Given the description of an element on the screen output the (x, y) to click on. 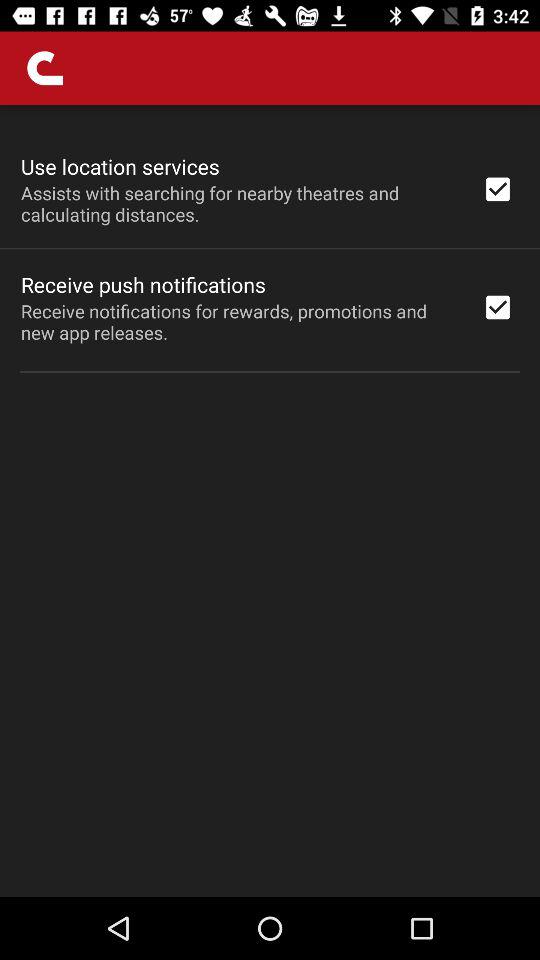
scroll until use location services item (120, 166)
